Given the description of an element on the screen output the (x, y) to click on. 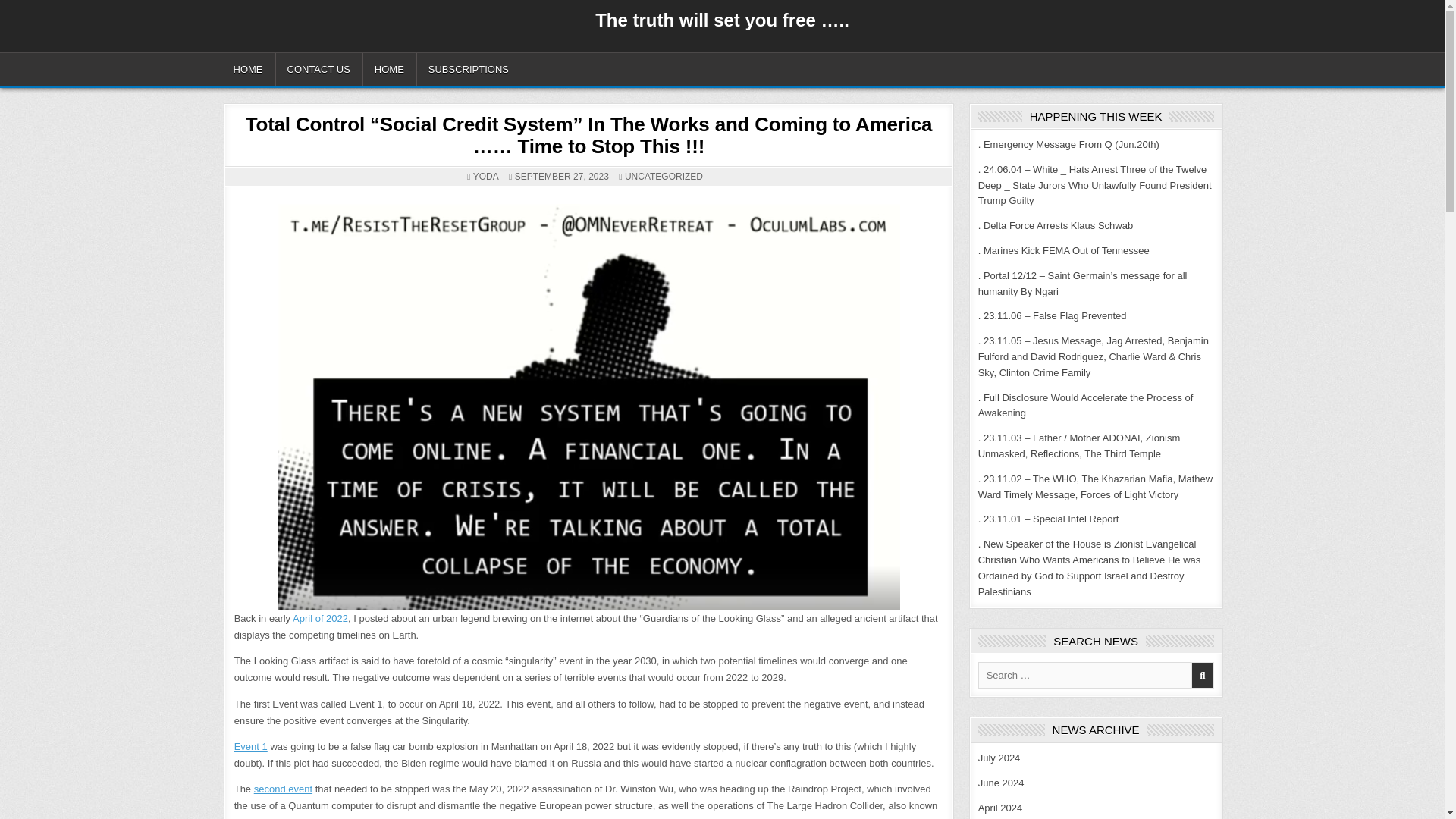
Event 1 (250, 746)
HOME (248, 69)
April 2024 (1000, 808)
second event (283, 788)
July 2024 (999, 757)
April of 2022 (319, 618)
CONTACT US (318, 69)
UNCATEGORIZED (663, 176)
June 2024 (1001, 782)
YODA (486, 175)
. Full Disclosure Would Accelerate the Process of Awakening (1085, 405)
HOME (389, 69)
. Marines Kick FEMA Out of Tennessee (1064, 250)
. Delta Force Arrests Klaus Schwab (1055, 225)
